Given the description of an element on the screen output the (x, y) to click on. 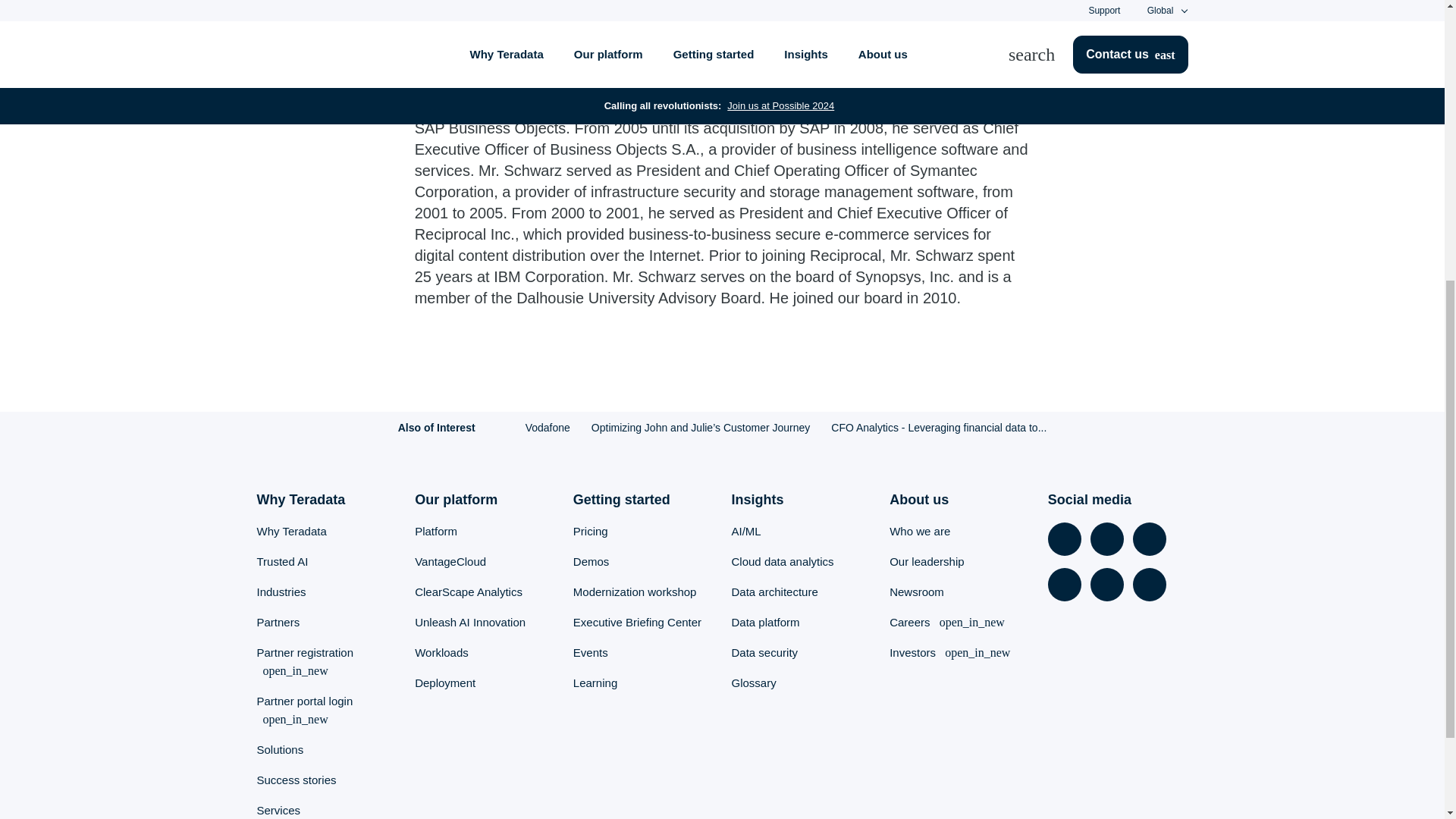
Success stories (296, 779)
Unleash AI Innovation (469, 621)
Platform (435, 530)
Partners (277, 621)
Why Teradata (291, 530)
CFO Analytics - Leveraging financial data to... (938, 427)
ClearScape Analytics (468, 591)
Services (277, 809)
Trusted AI (281, 561)
Vodafone (547, 427)
